Given the description of an element on the screen output the (x, y) to click on. 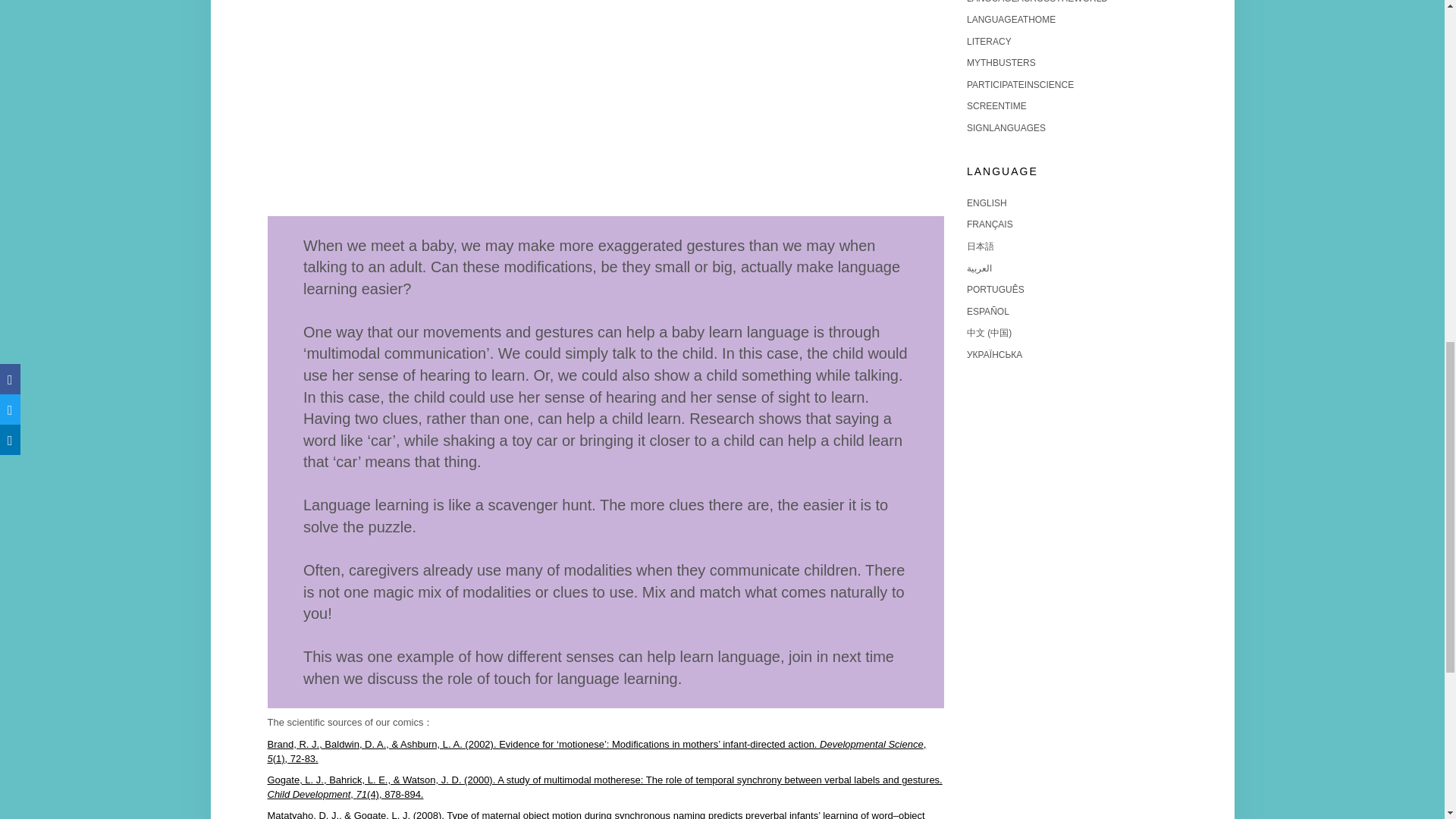
PARTICIPATEINSCIENCE (1020, 84)
LITERACY (988, 41)
SIGNLANGUAGES (1005, 127)
ENGLISH (986, 203)
LANGUAGEATHOME (1010, 19)
MYTHBUSTERS (1000, 62)
SCREENTIME (996, 105)
LANGUAGEACROSSTHEWORLD (1037, 2)
